Given the description of an element on the screen output the (x, y) to click on. 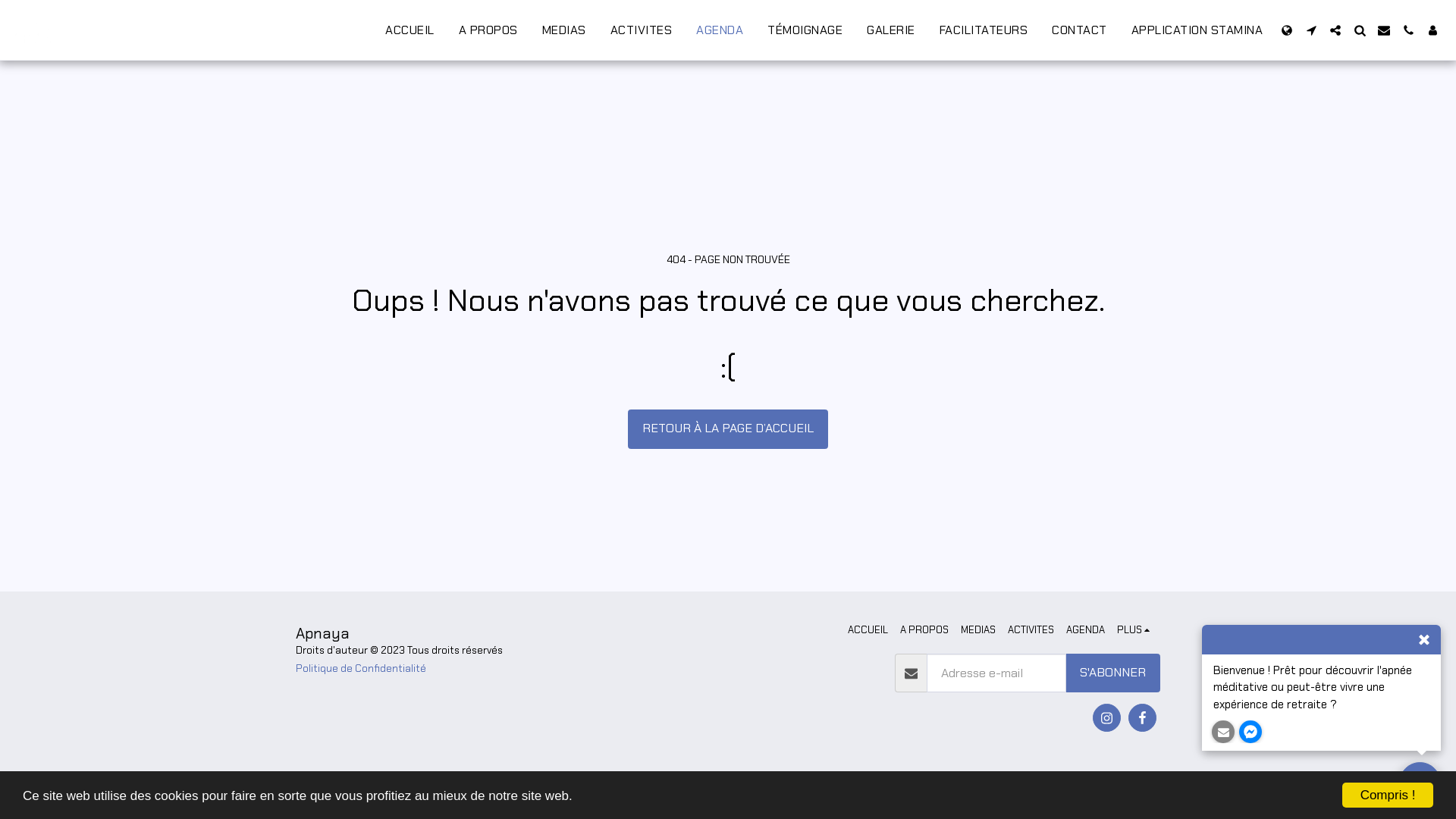
CONTACT Element type: text (1079, 30)
  Element type: text (1432, 30)
  Element type: text (1419, 782)
ACTIVITES Element type: text (641, 30)
S'ABONNER Element type: text (1112, 673)
Compris ! Element type: text (1387, 794)
  Element type: text (1286, 30)
  Element type: text (1310, 30)
  Element type: text (1407, 30)
  Element type: text (1335, 30)
ACCUEIL Element type: text (409, 30)
PLUS   Element type: text (1135, 629)
  Element type: text (1383, 30)
ACCUEIL Element type: text (867, 629)
  Element type: text (1106, 717)
ACTIVITES Element type: text (1030, 629)
MEDIAS Element type: text (563, 30)
FACILITATEURS Element type: text (983, 30)
GALERIE Element type: text (890, 30)
MEDIAS Element type: text (977, 629)
AGENDA Element type: text (719, 30)
  Element type: text (1142, 717)
AGENDA Element type: text (1085, 629)
  Element type: text (1222, 731)
  Element type: text (1359, 30)
APPLICATION STAMINA Element type: text (1196, 30)
A PROPOS Element type: text (488, 30)
A PROPOS Element type: text (924, 629)
